Given the description of an element on the screen output the (x, y) to click on. 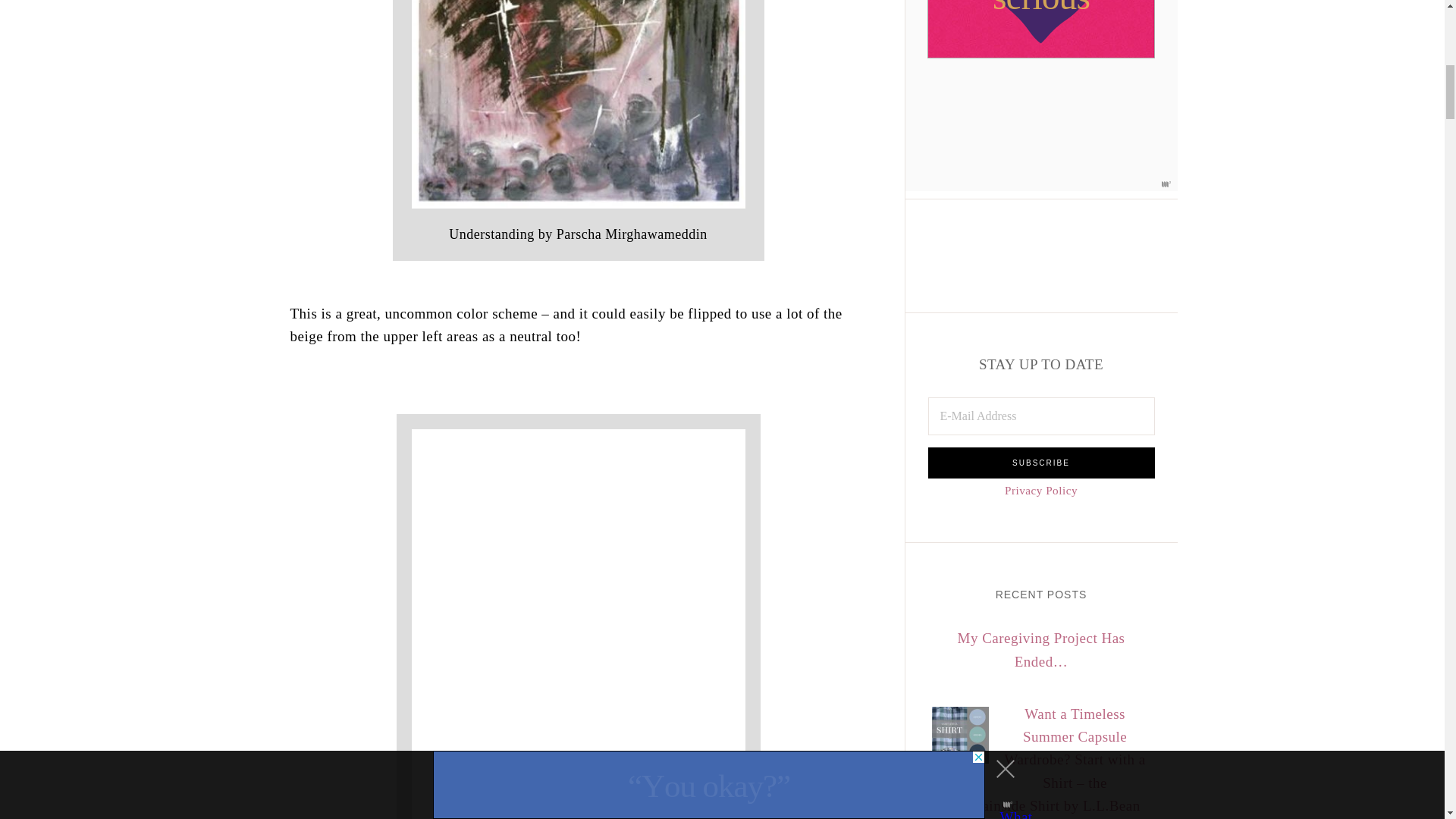
3rd party ad content (1040, 29)
Subscribe (1041, 462)
